Given the description of an element on the screen output the (x, y) to click on. 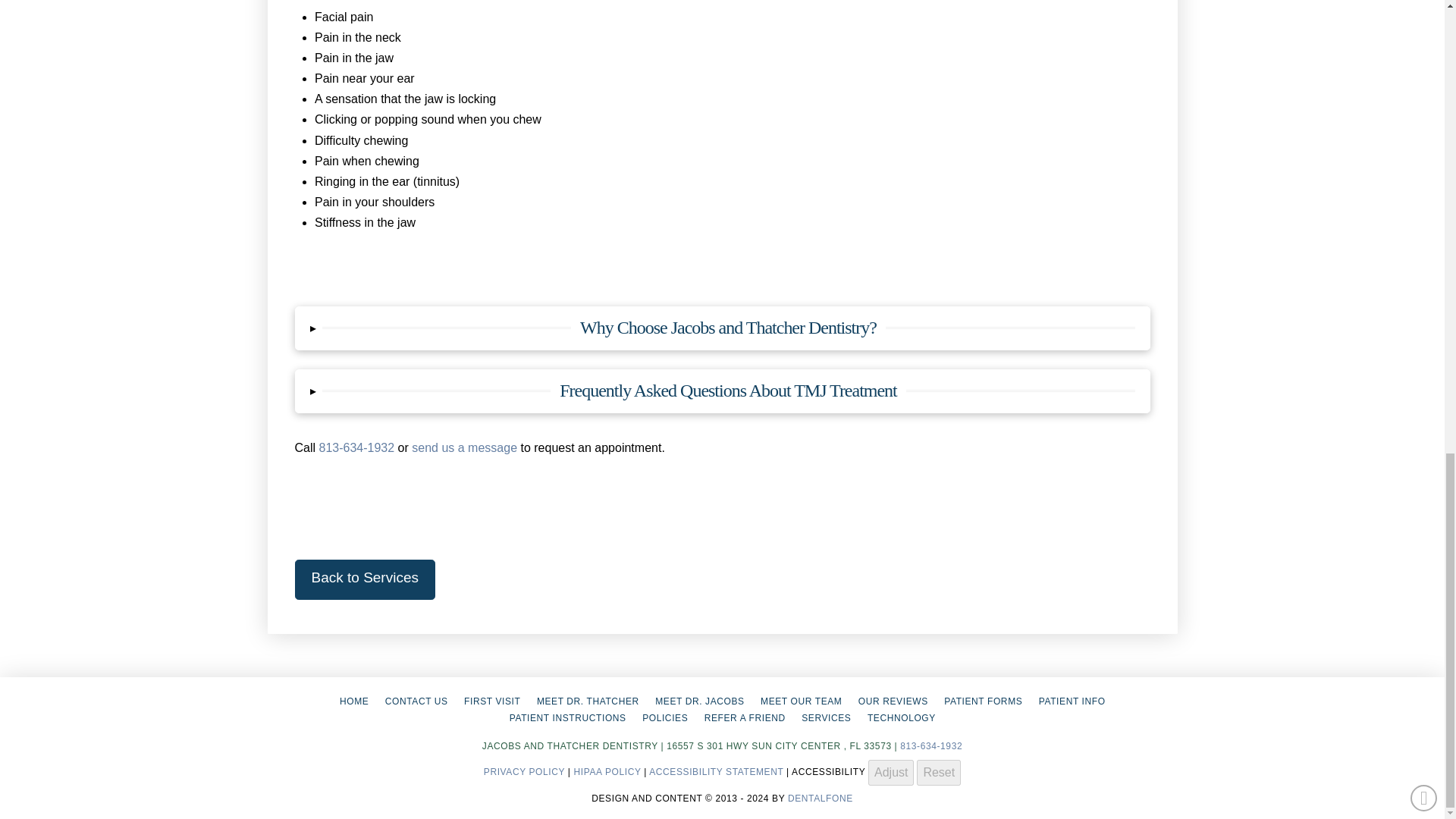
Return to Services (363, 579)
Contact Our Office (416, 701)
Phone Number (356, 447)
Phone Number (930, 746)
